Given the description of an element on the screen output the (x, y) to click on. 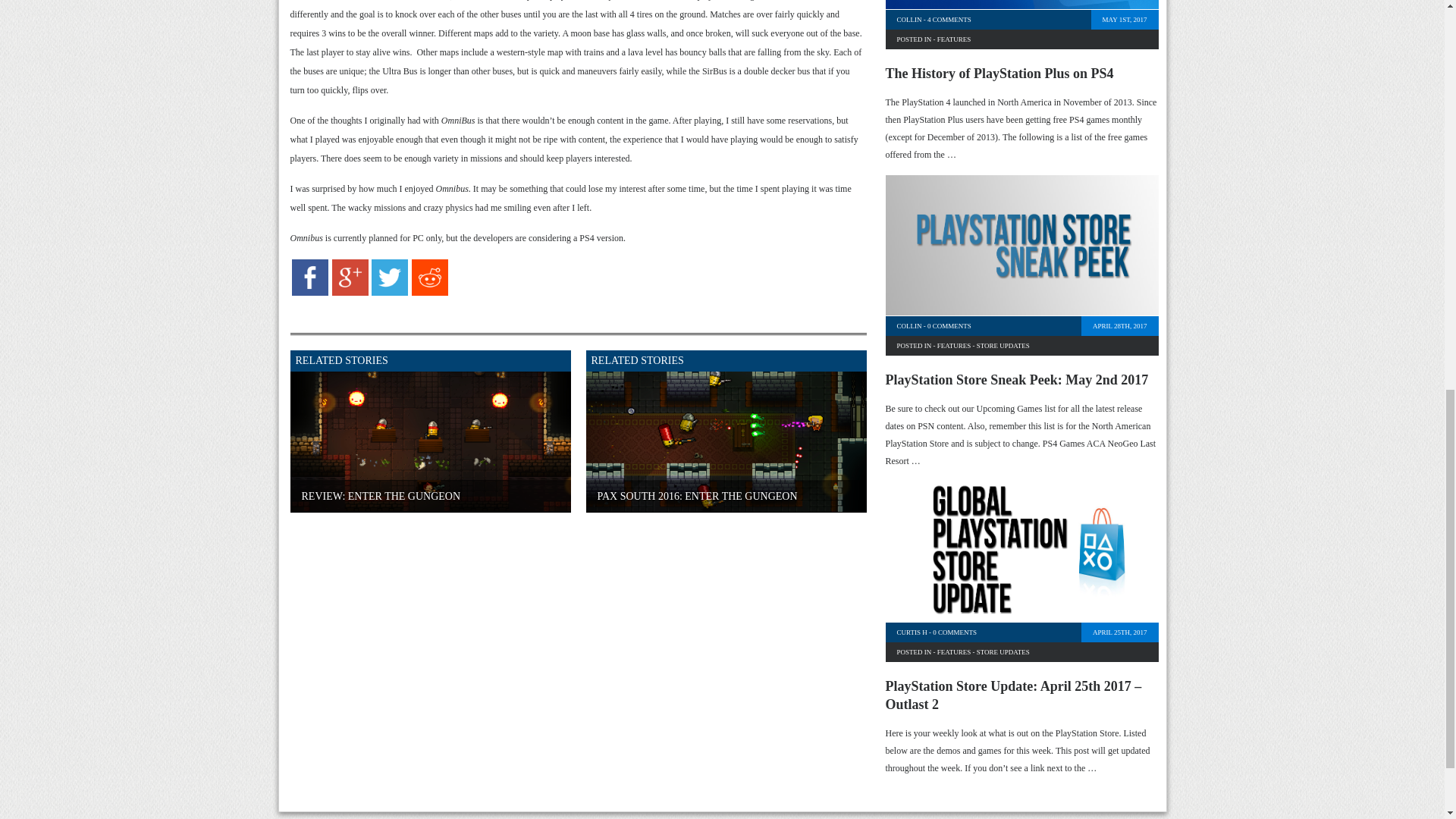
Share via Twitter (389, 292)
Posts by Curtis H (911, 632)
Posts by Collin (908, 326)
Share via Facebook (310, 292)
Posts by Collin (908, 19)
Share via Google (349, 292)
Share via Reddit (430, 292)
